Given the description of an element on the screen output the (x, y) to click on. 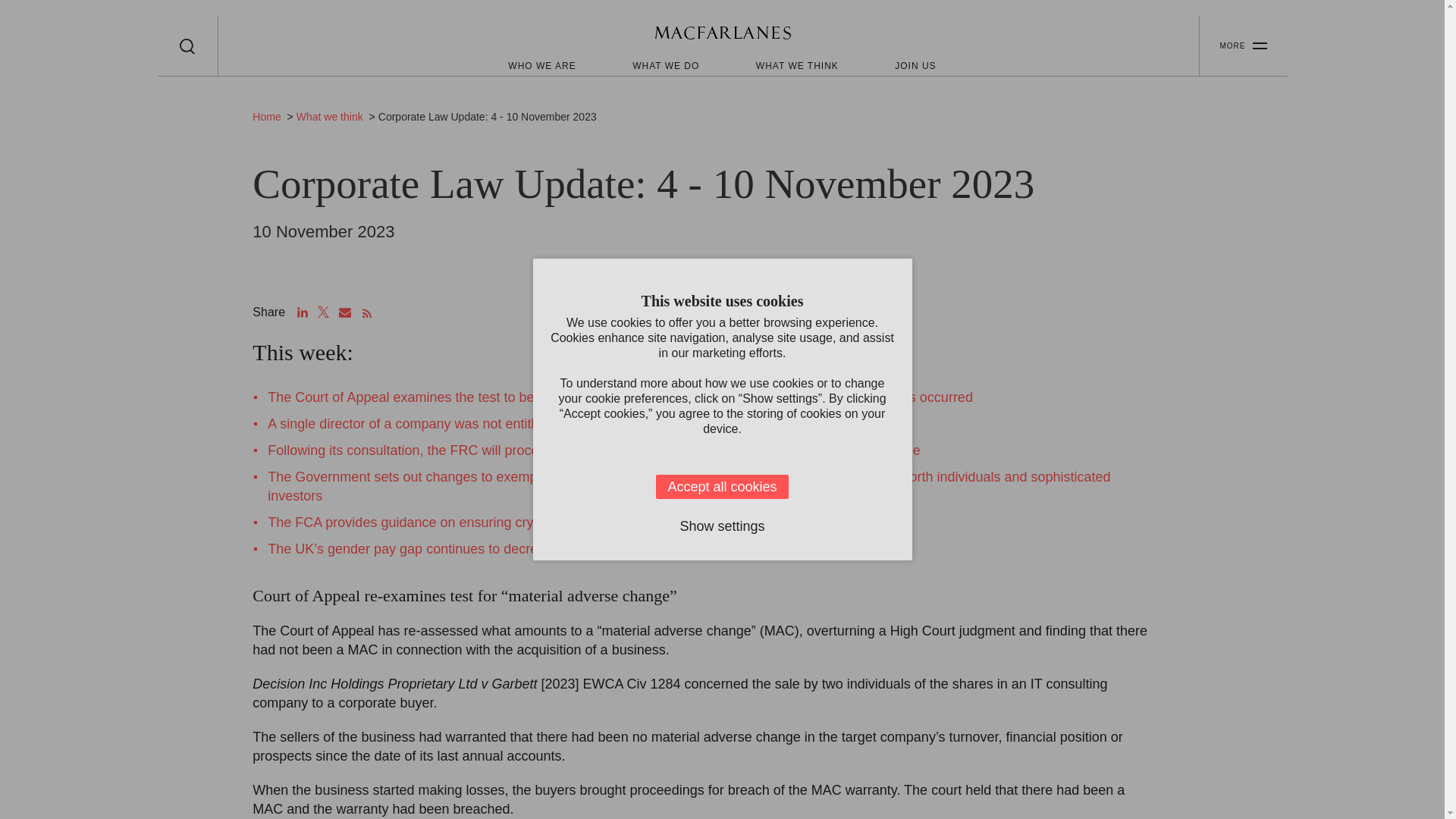
WHO WE ARE (541, 65)
MACFARLANES (721, 35)
Search (187, 46)
WHAT WE THINK (796, 65)
WHAT WE DO (664, 65)
